Given the description of an element on the screen output the (x, y) to click on. 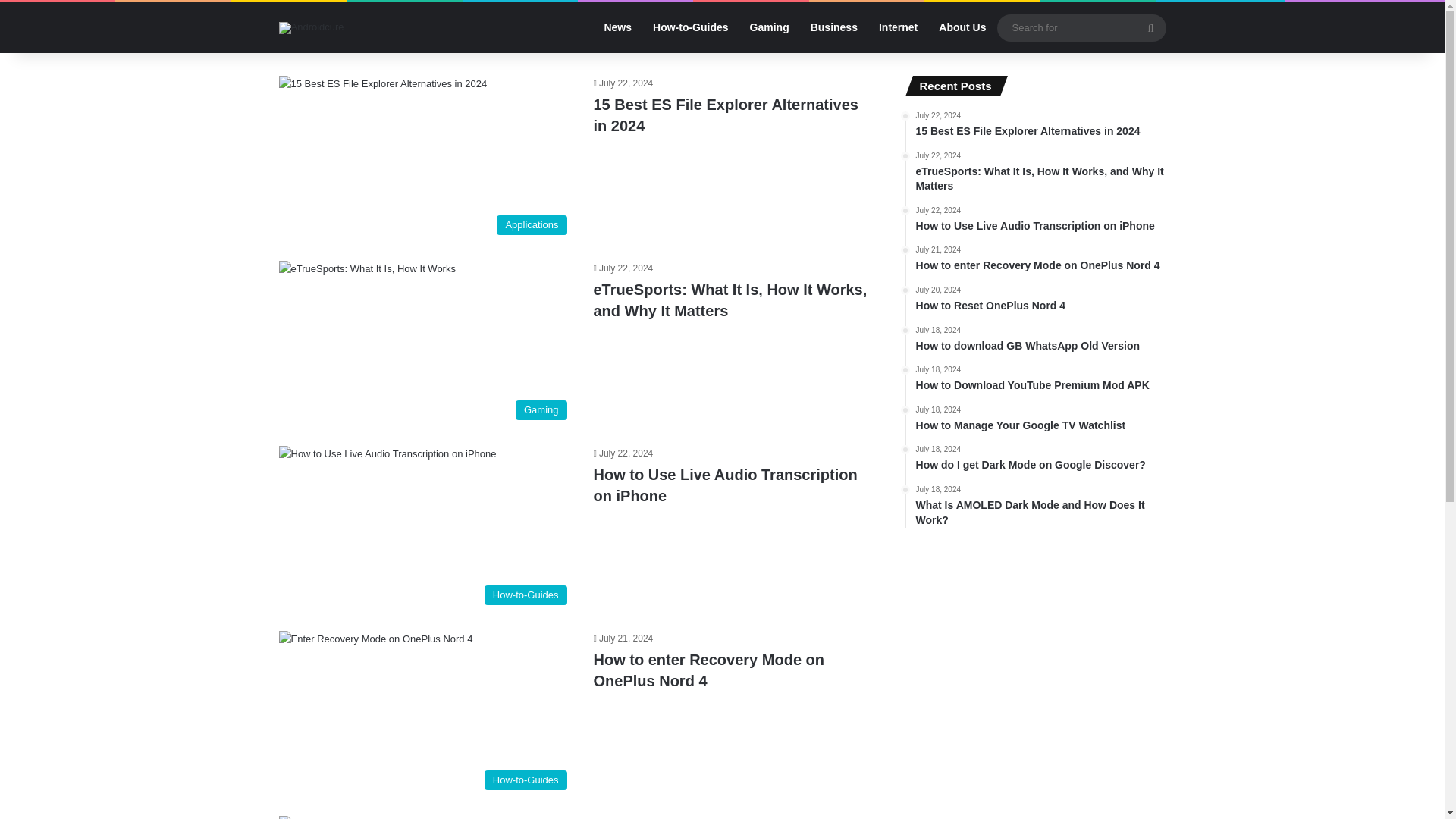
Business (833, 27)
Gaming (427, 344)
eTrueSports: What It Is, How It Works, and Why It Matters (1040, 379)
Androidcure (1040, 419)
Applications (729, 300)
How-to-Guides (1040, 339)
How-to-Guides (1040, 220)
How to Use Live Audio Transcription on iPhone (1040, 459)
